Given the description of an element on the screen output the (x, y) to click on. 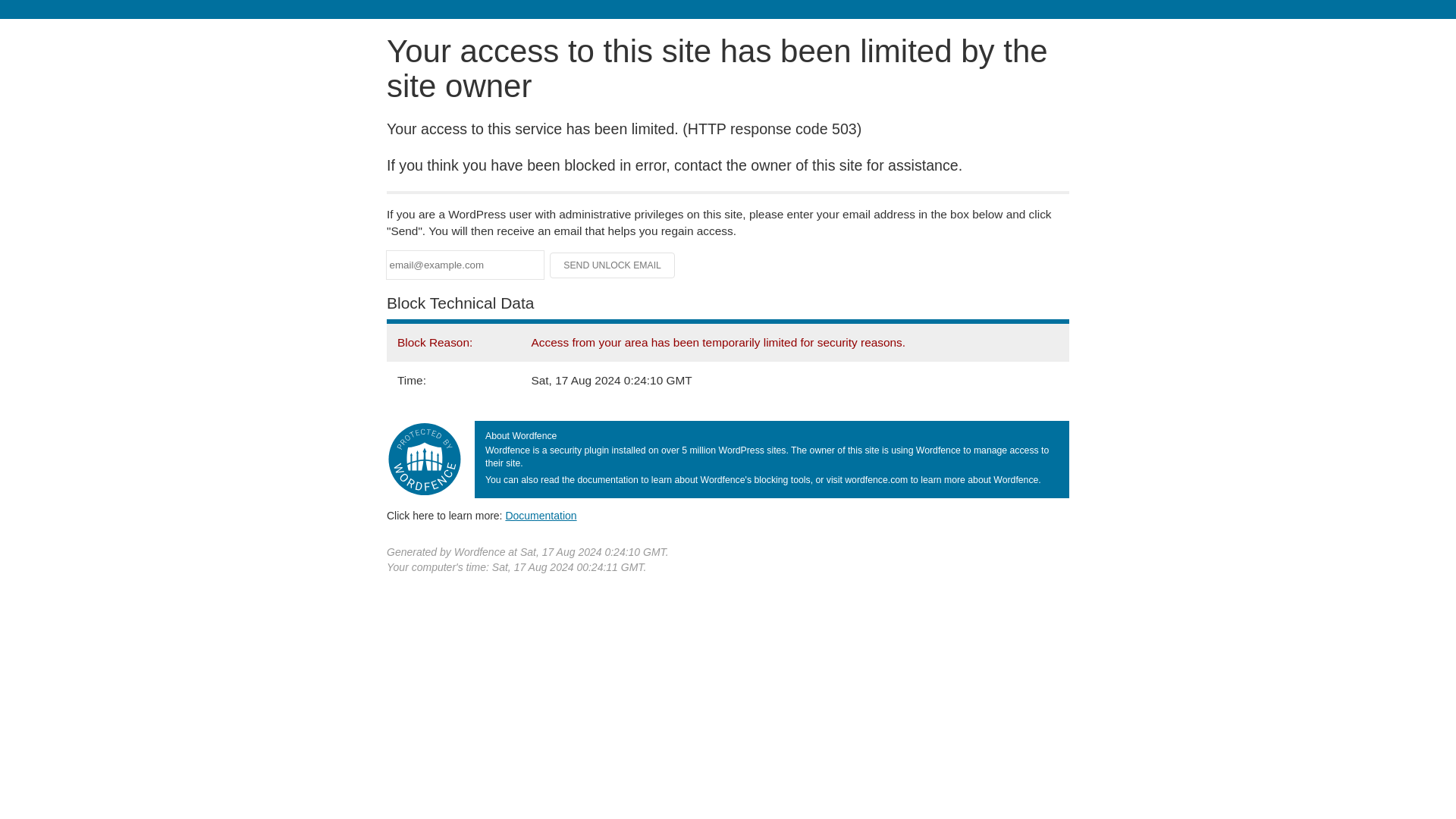
Send Unlock Email (612, 265)
Send Unlock Email (612, 265)
Documentation (540, 515)
